Given the description of an element on the screen output the (x, y) to click on. 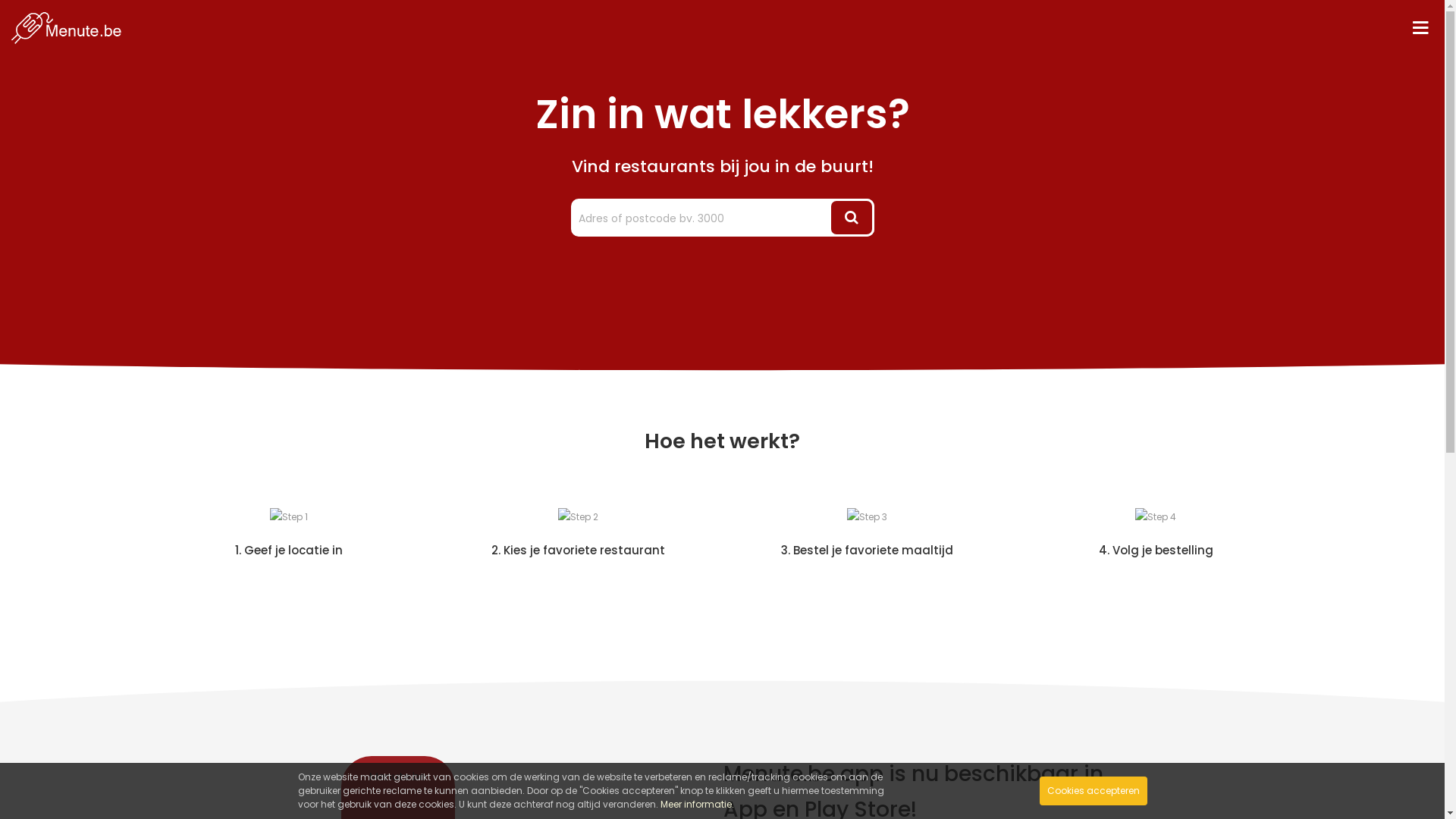
Meer informatie. Element type: text (696, 803)
Cookies accepteren Element type: text (1092, 790)
Step 1 Element type: hover (288, 517)
Step 4 Element type: hover (1155, 517)
Step 2 Element type: hover (578, 517)
Step 3 Element type: hover (866, 517)
